Given the description of an element on the screen output the (x, y) to click on. 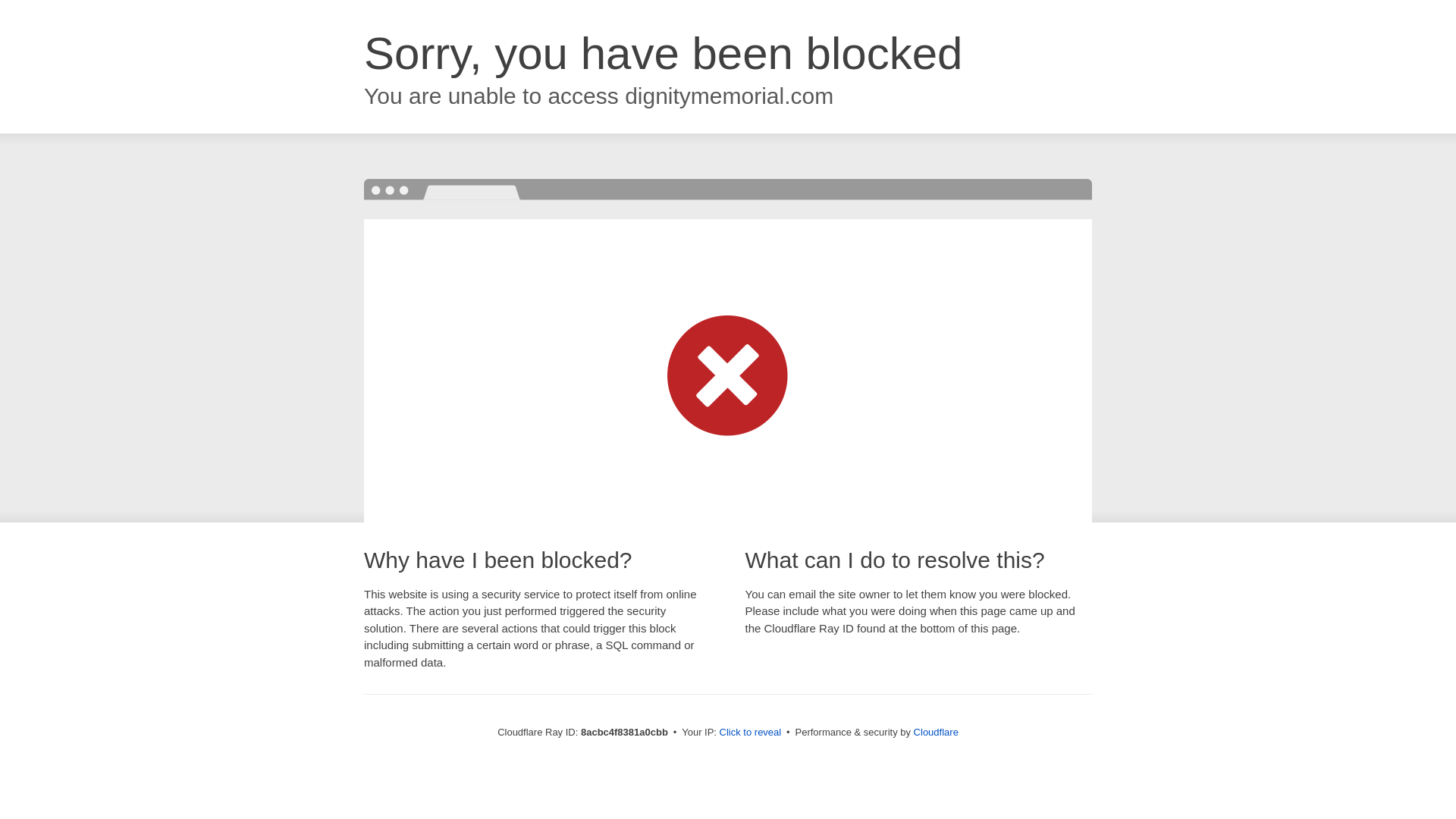
Click to reveal (750, 732)
Cloudflare (936, 731)
